Given the description of an element on the screen output the (x, y) to click on. 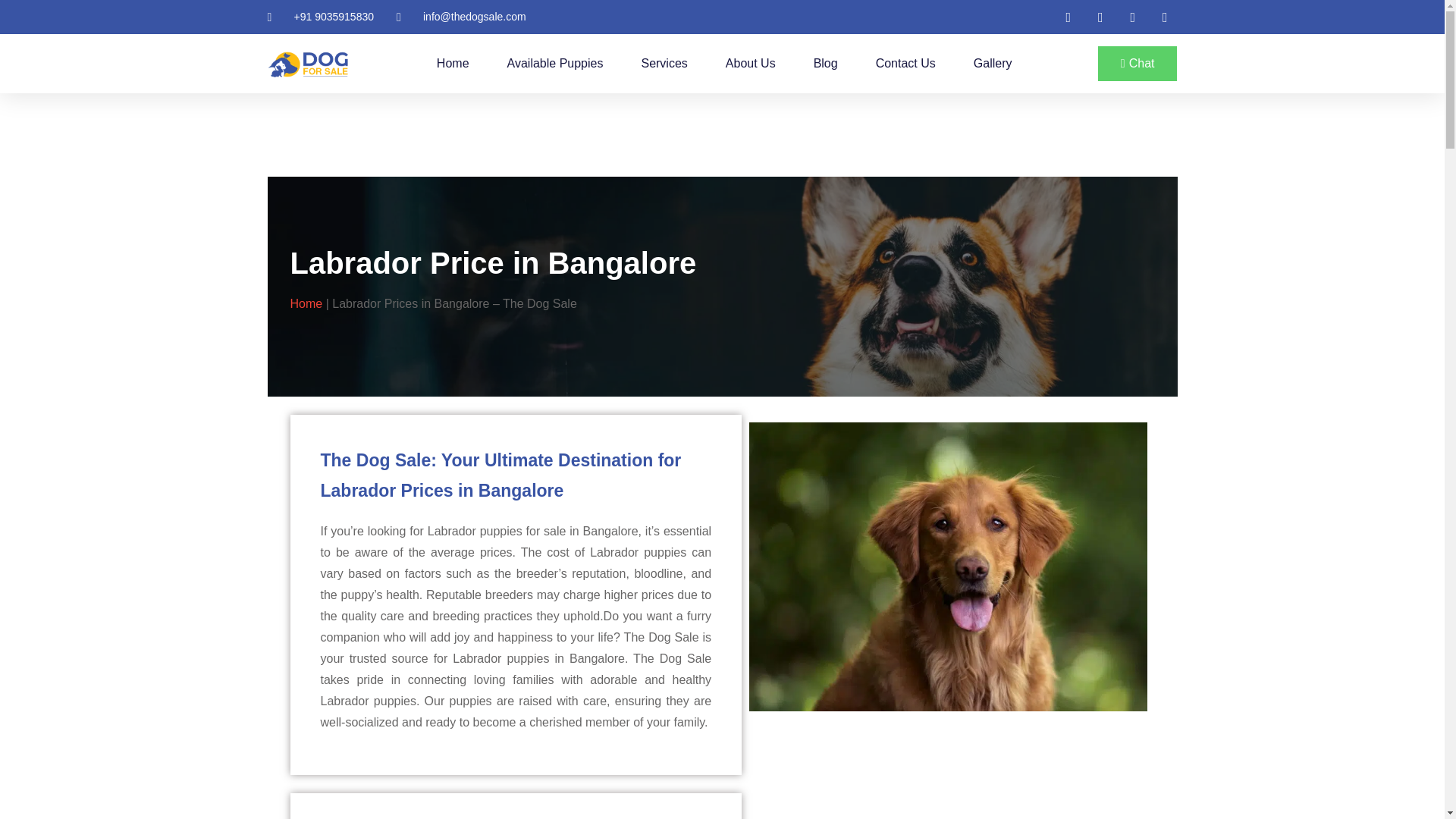
Gallery (992, 63)
Services (663, 63)
About Us (750, 63)
Available Puppies (555, 63)
Home (452, 63)
Contact Us (906, 63)
